Given the description of an element on the screen output the (x, y) to click on. 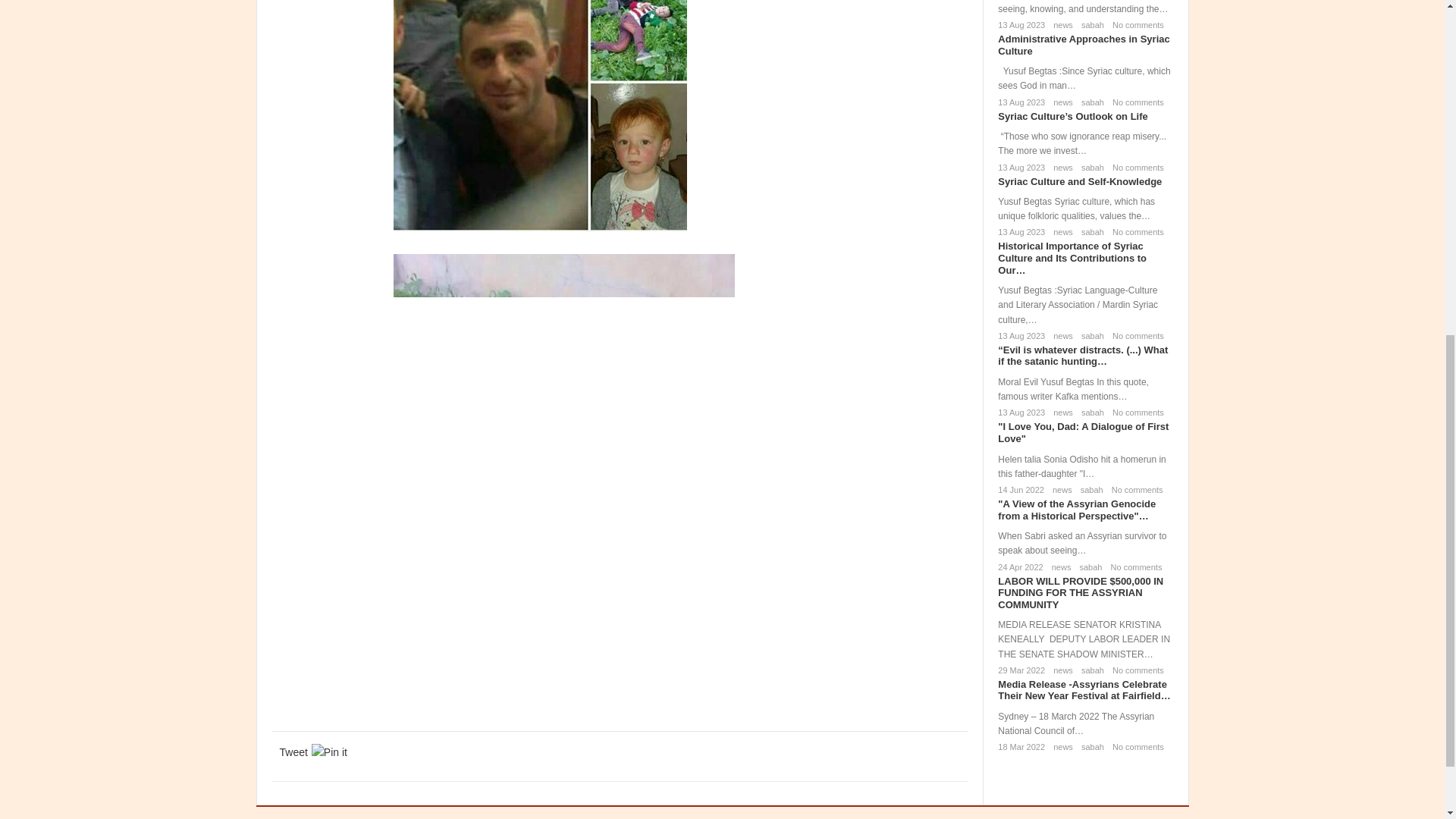
Tweet (293, 751)
Pin it (329, 751)
I Love You, Dad: A Dialogue of First Love (1083, 432)
Administrative Approaches in Syriac Culture (1083, 44)
